Given the description of an element on the screen output the (x, y) to click on. 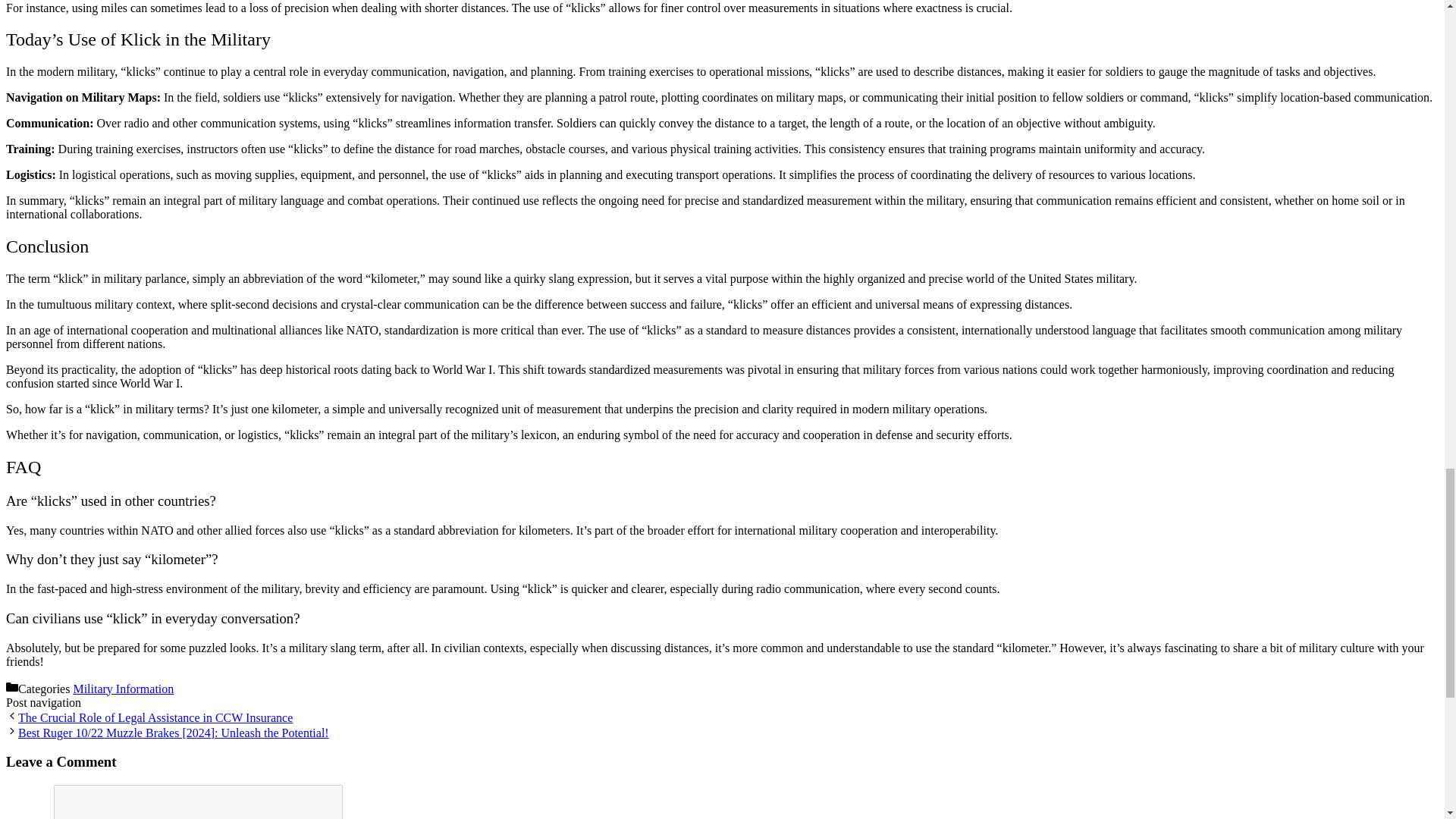
The Crucial Role of Legal Assistance in CCW Insurance (154, 717)
Next (173, 732)
Military Information (122, 688)
Previous (154, 717)
